Given the description of an element on the screen output the (x, y) to click on. 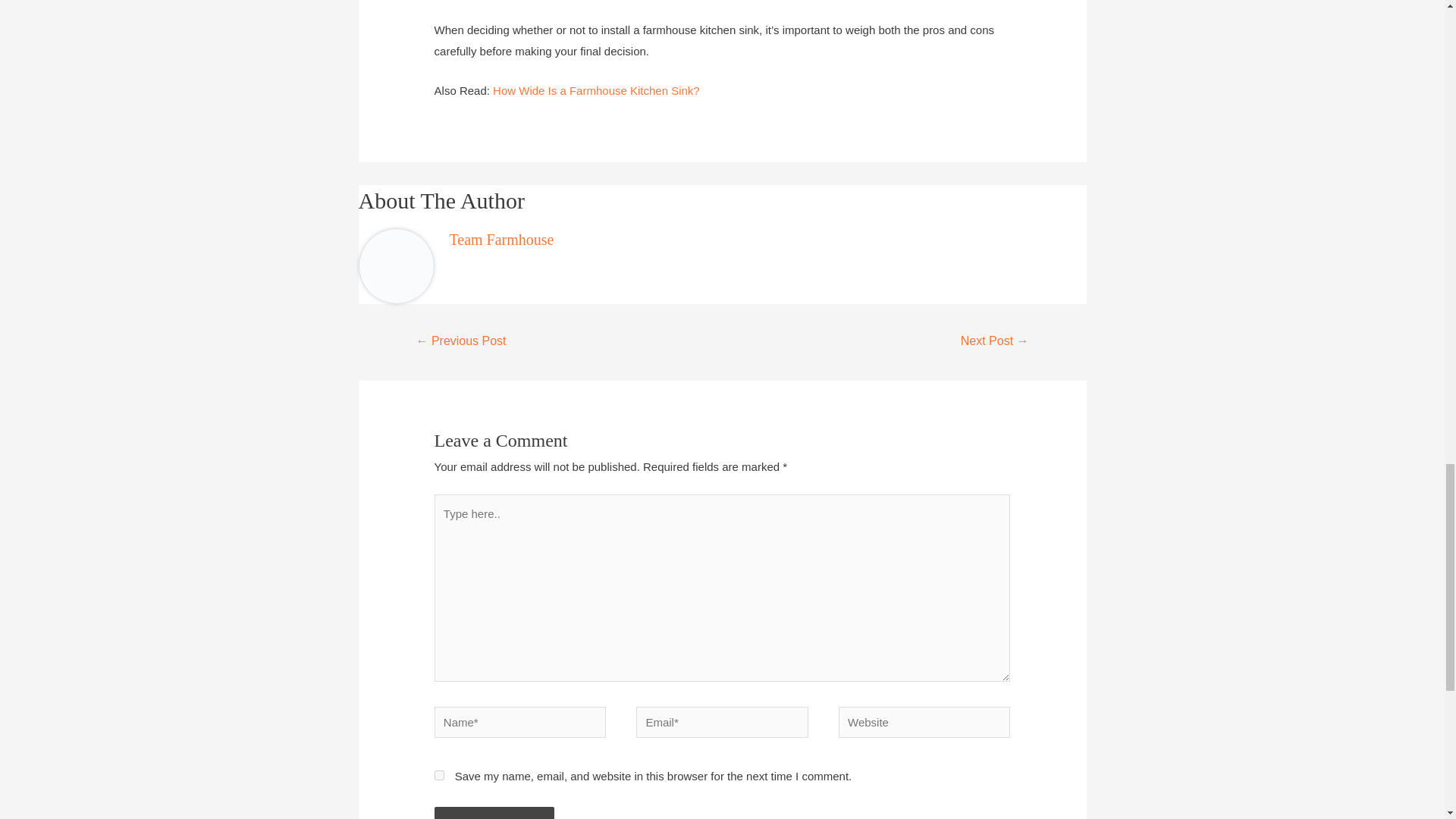
Team Farmhouse (500, 239)
How Wide Is a Farmhouse Kitchen Sink? (596, 90)
yes (438, 775)
